Given the description of an element on the screen output the (x, y) to click on. 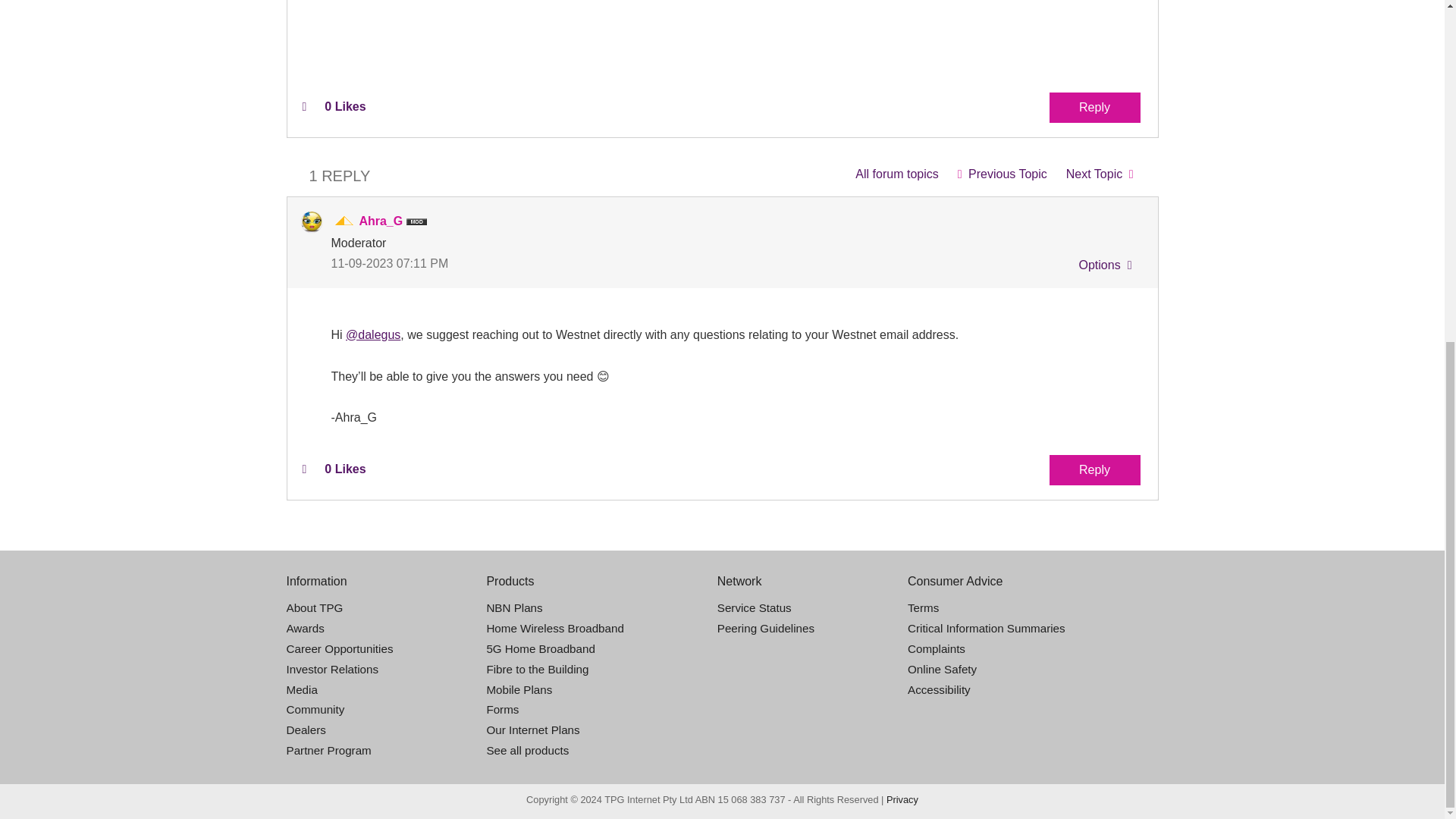
Moderator (344, 221)
0.24mbps Upload but 50mbps Download (1002, 173)
My 5G internet is not activated (1099, 173)
Click here to give kudos to this post. (303, 106)
Broadband Internet (896, 173)
The total number of kudos this post has received. (344, 106)
